Given the description of an element on the screen output the (x, y) to click on. 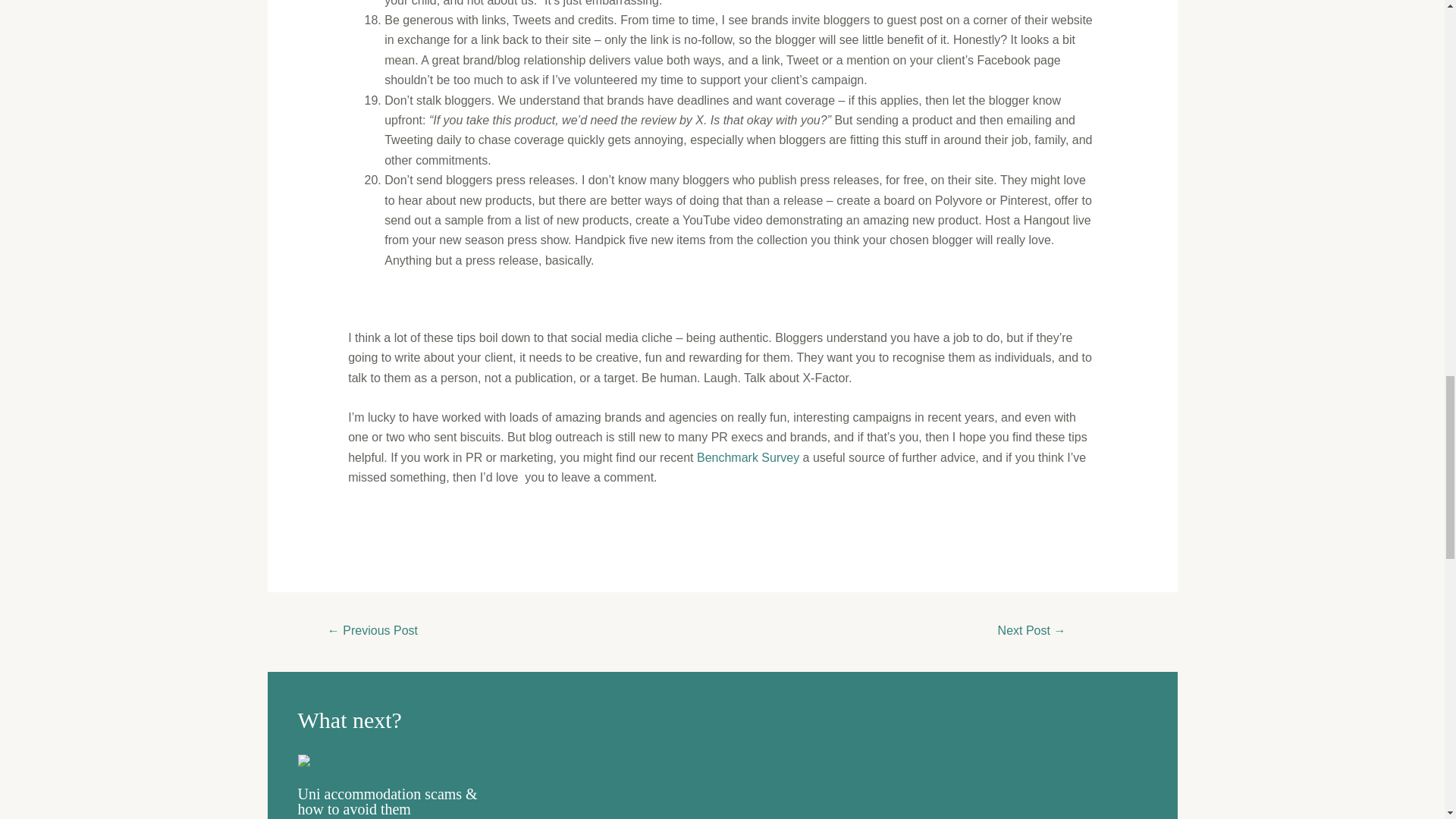
Board Games for Kids at Christmas (371, 632)
What to buy your parents for Christmas (1031, 632)
